Given the description of an element on the screen output the (x, y) to click on. 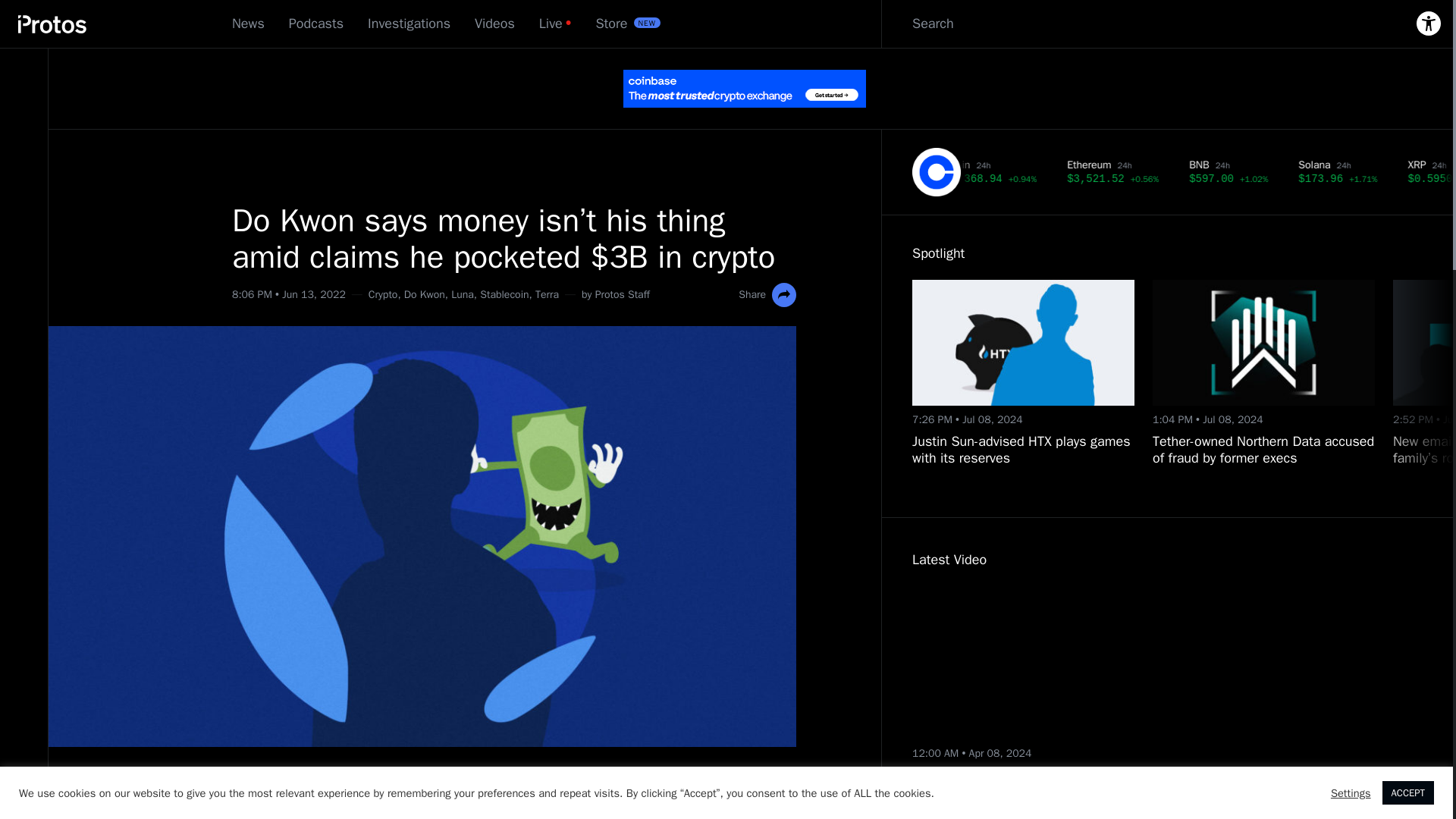
Investigations (408, 23)
YouTube video player (1051, 662)
Terra (547, 294)
Stablecoin (504, 294)
Crypto (382, 294)
Do Kwon (424, 294)
Protos Staff (622, 294)
Podcasts (315, 23)
